Given the description of an element on the screen output the (x, y) to click on. 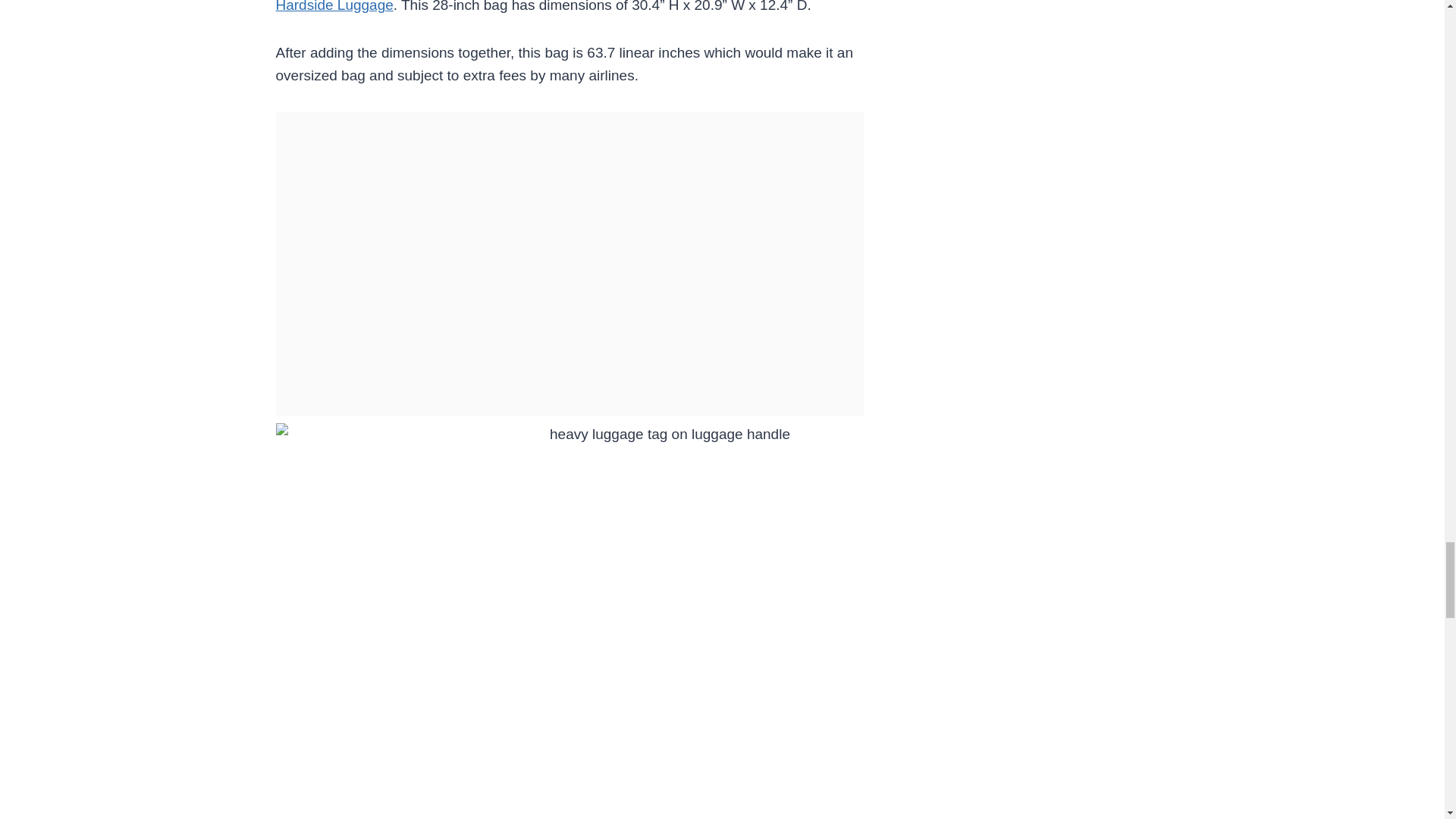
Samsonite Omni 2 Hardside Luggage (544, 6)
